Given the description of an element on the screen output the (x, y) to click on. 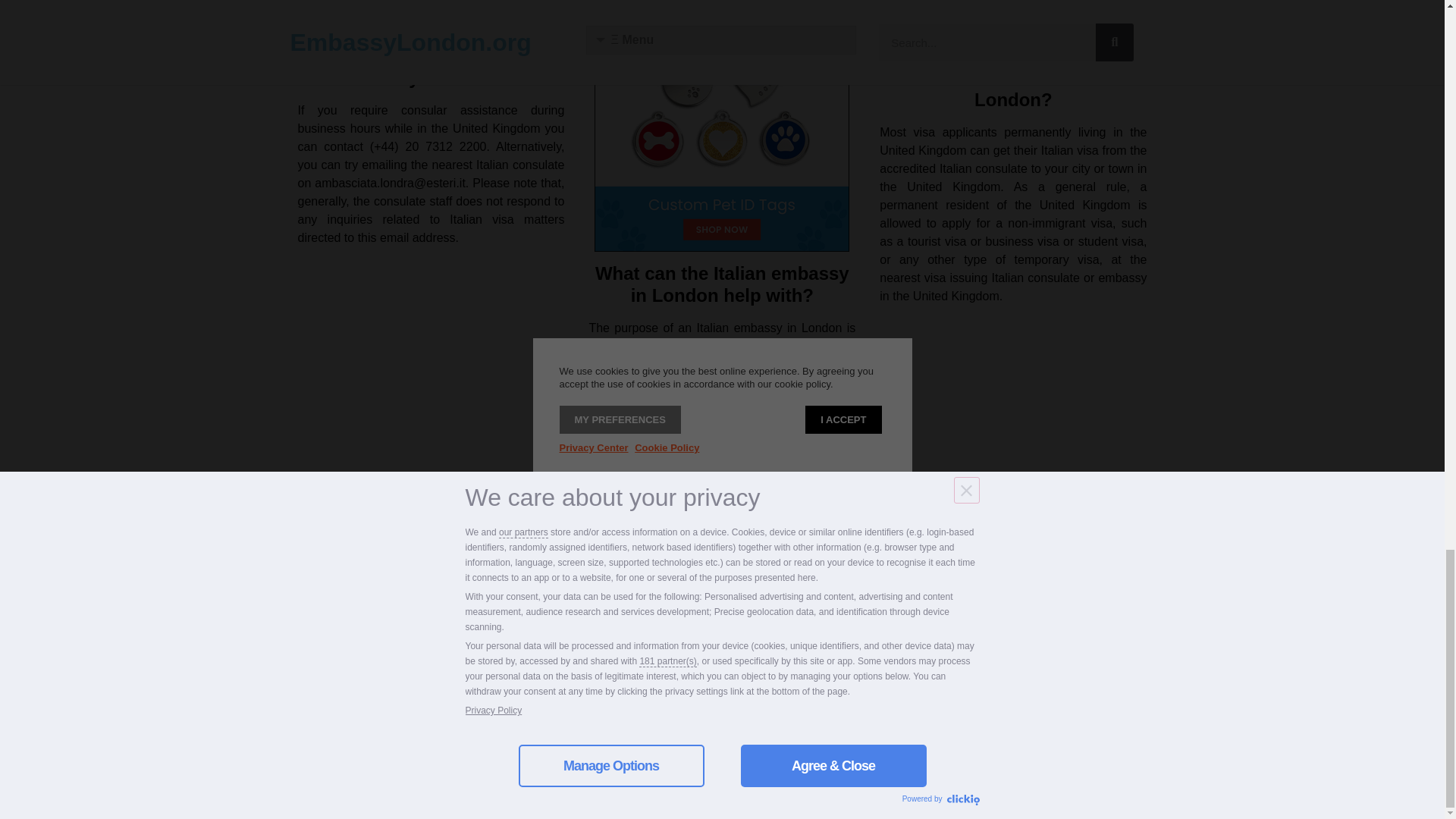
Home (746, 680)
